Given the description of an element on the screen output the (x, y) to click on. 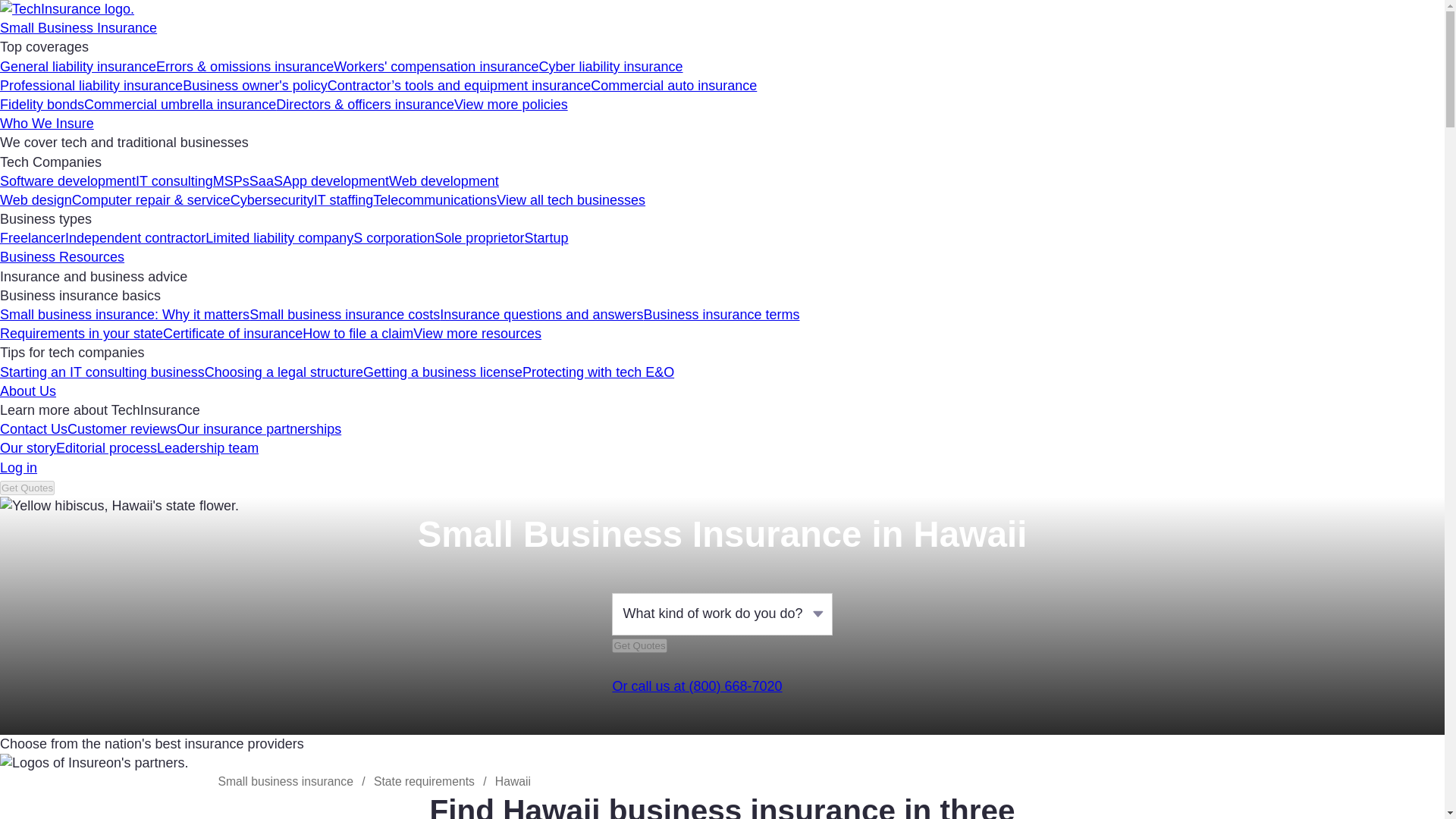
Commercial auto insurance (674, 85)
Errors and omissions insurance (244, 66)
Professional liability insurance (91, 85)
S corporation (393, 237)
Small business insurance costs (343, 314)
App development (335, 181)
Startup (545, 237)
Who We Insure (47, 123)
Requirements in your state (81, 333)
Workers' compensation insurance (435, 66)
View all tech businesses (570, 200)
Commercial umbrella insurance (180, 104)
Certificate of insurance (232, 333)
Business insurance terms (721, 314)
View more policies (510, 104)
